Given the description of an element on the screen output the (x, y) to click on. 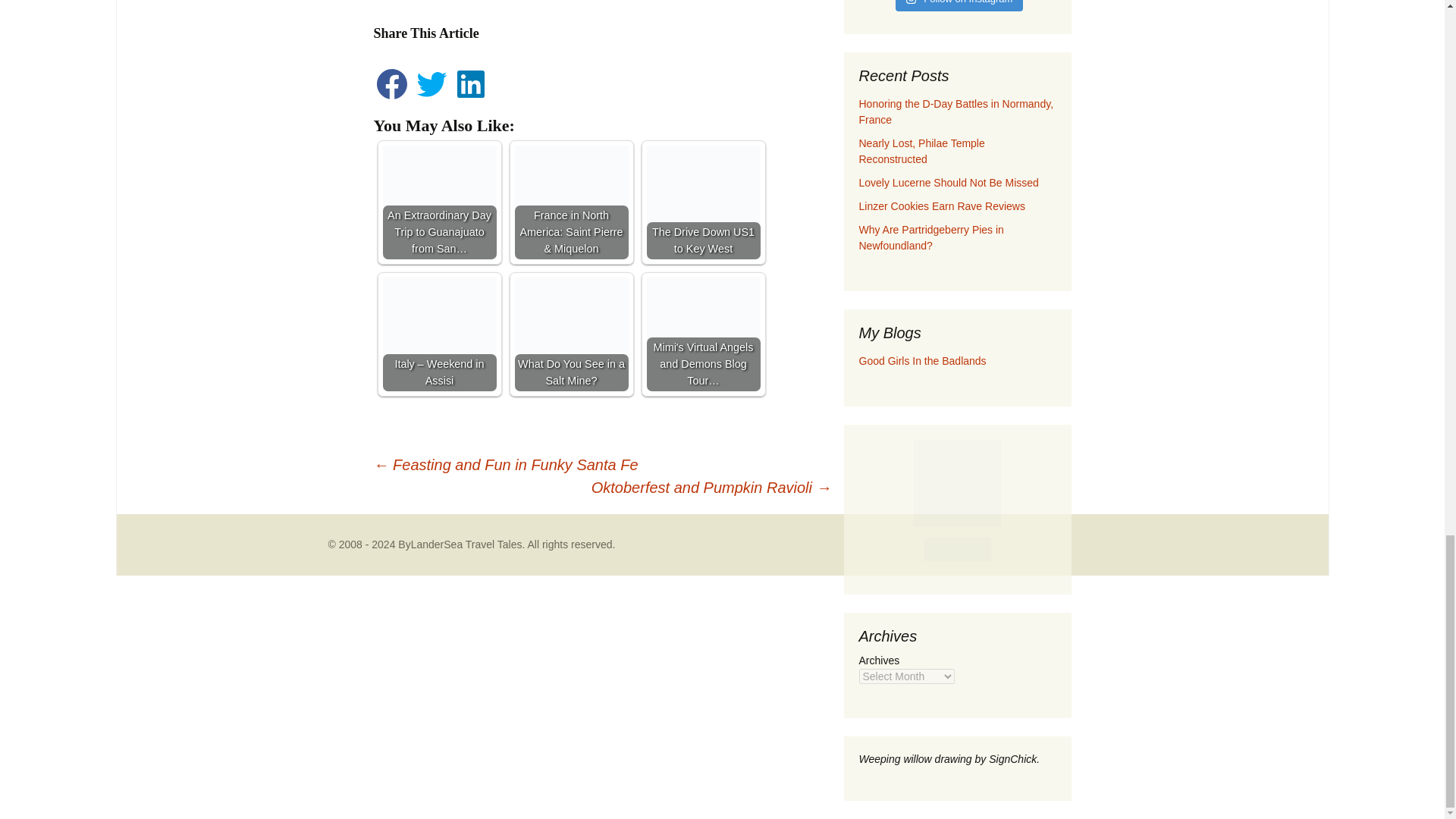
Share on Twitter (432, 97)
Share on Facebook (392, 97)
The Drive Down US1 to Key West (703, 202)
What Do You See in a Salt Mine? (570, 334)
The Drive Down US1 to Key West (703, 202)
Share on LinkedIn (470, 97)
What Do You See in a Salt Mine? (570, 334)
